Given the description of an element on the screen output the (x, y) to click on. 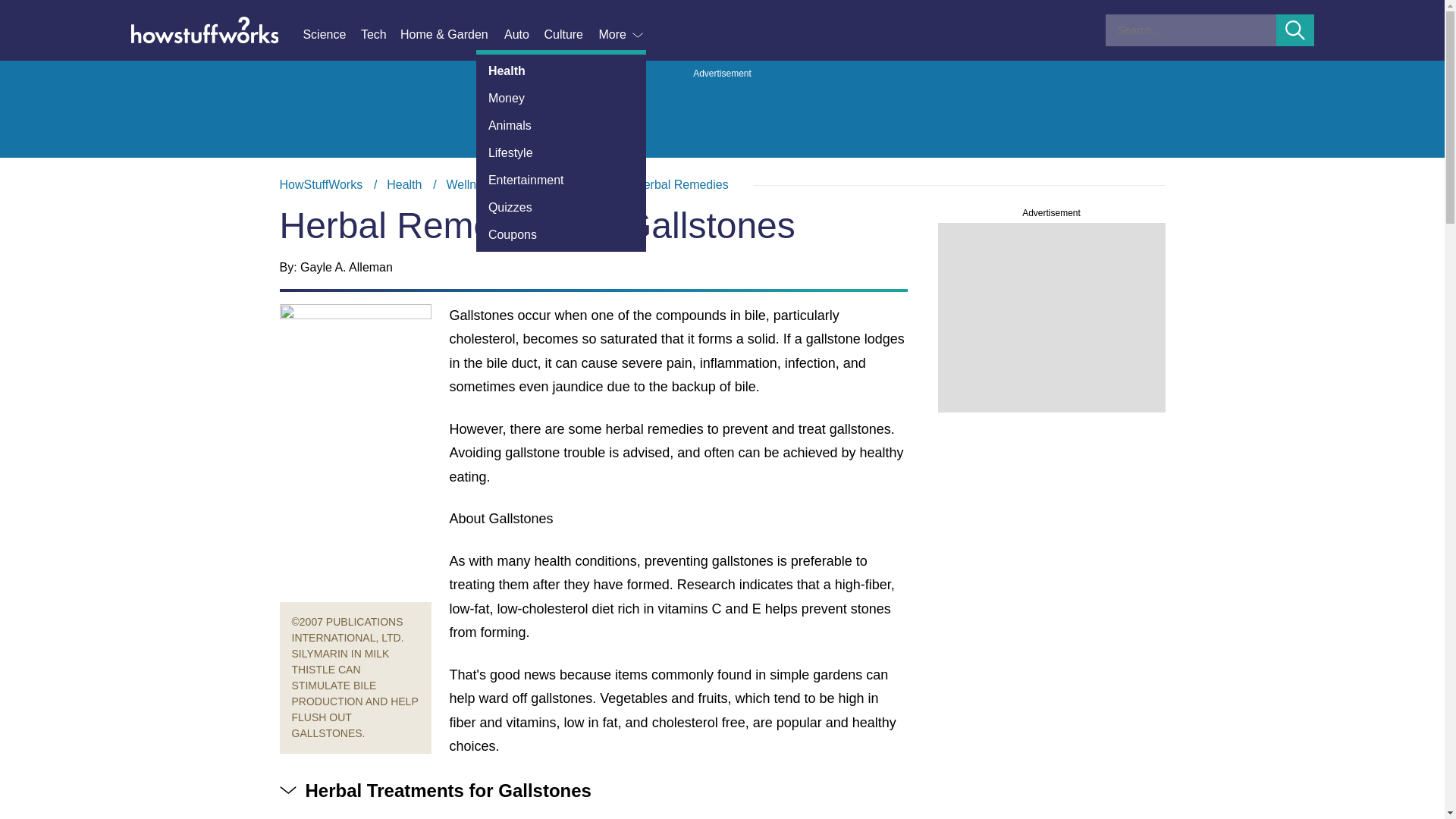
Tech (380, 34)
Animals (561, 125)
Coupons (561, 234)
Lifestyle (561, 153)
HowStuffWorks (320, 184)
Health (404, 184)
Submit Search (1295, 29)
Money (561, 98)
Health (561, 71)
Natural Medicine (564, 184)
Wellness (470, 184)
More (621, 34)
Culture (570, 34)
Quizzes (561, 207)
